Given the description of an element on the screen output the (x, y) to click on. 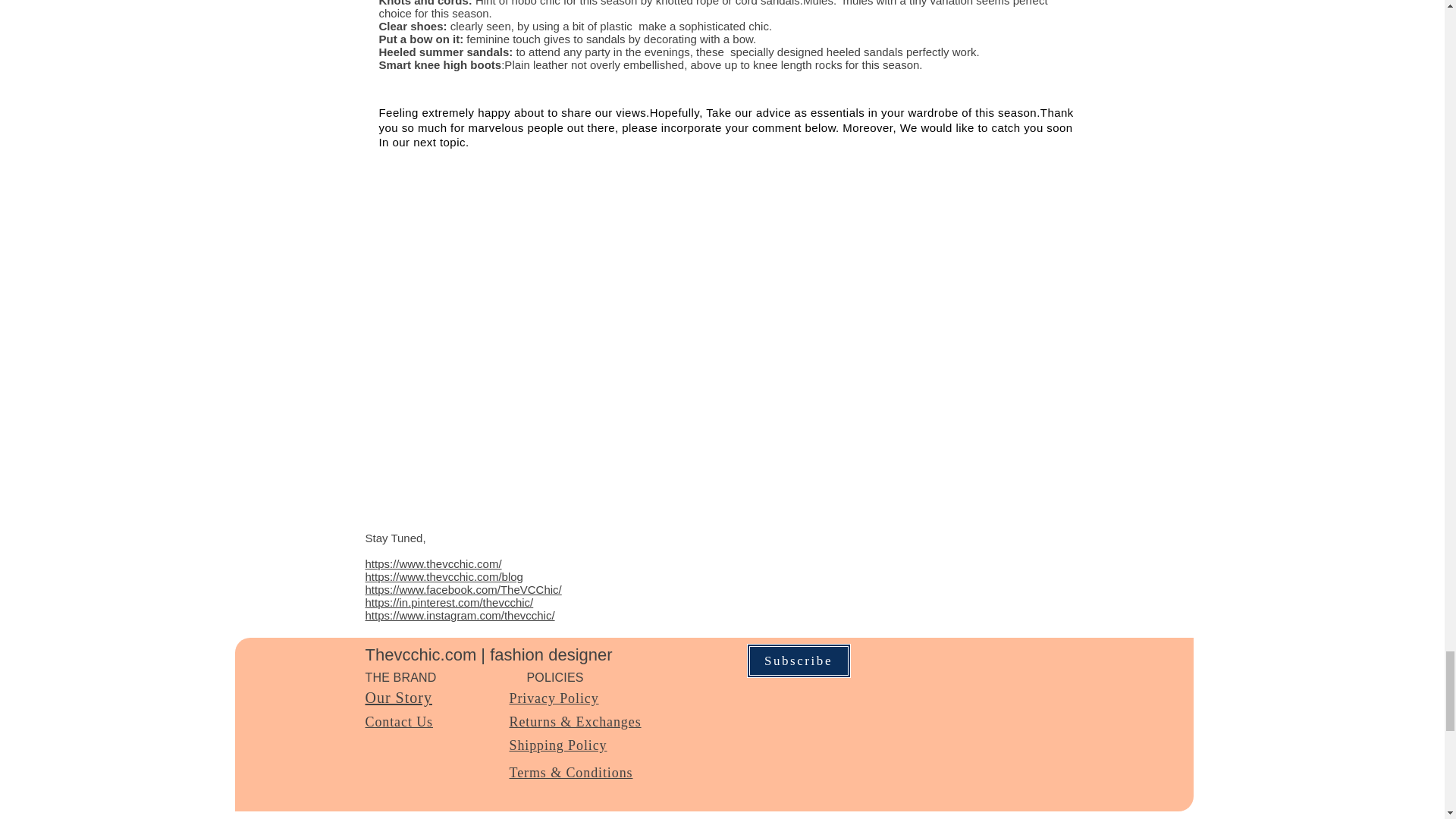
Our Story (398, 697)
Contact Us (399, 721)
Shipping Policy (558, 744)
Privacy Policy (553, 698)
Subscribe (797, 660)
